Given the description of an element on the screen output the (x, y) to click on. 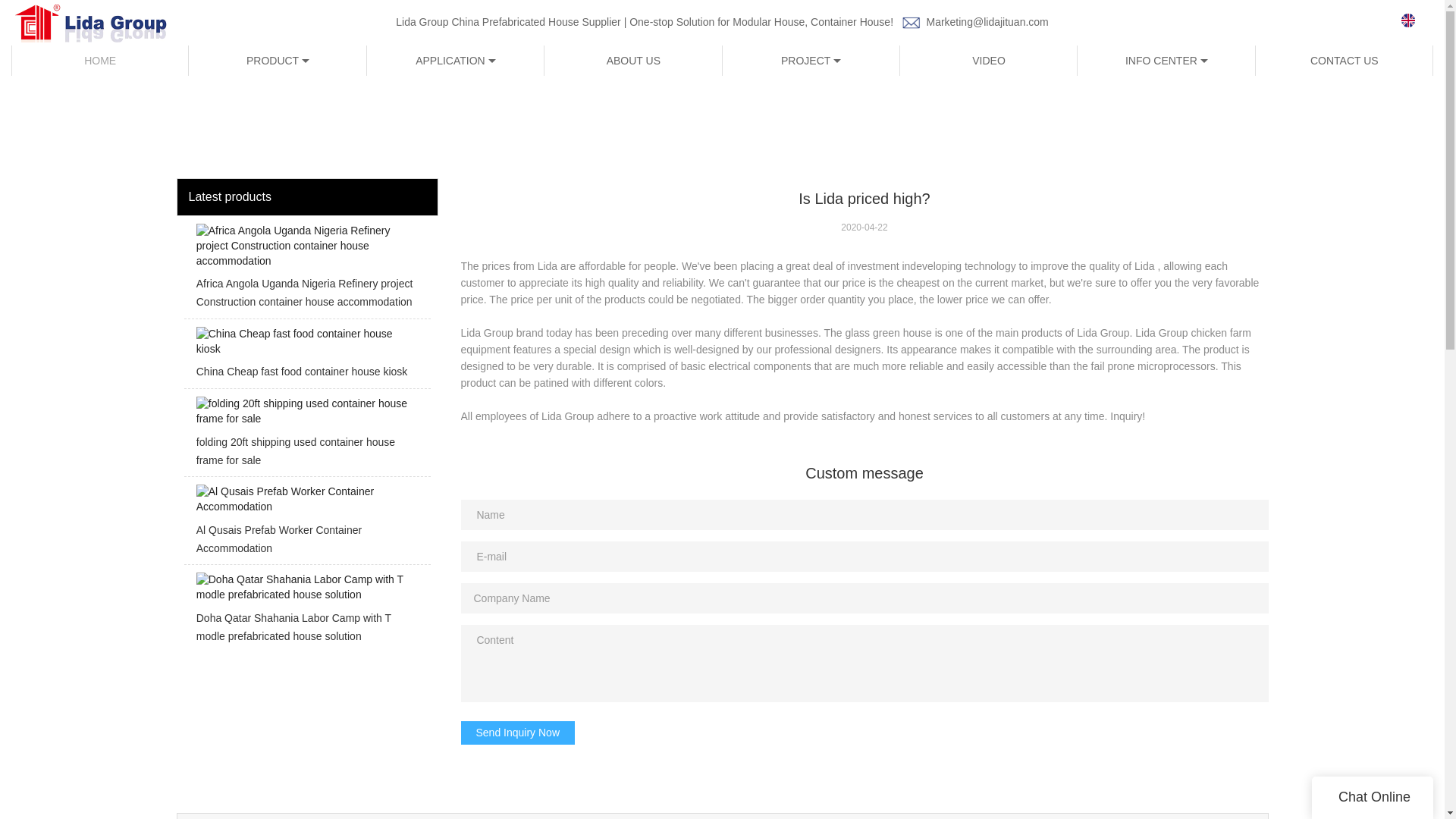
HOME (100, 60)
PRODUCT (277, 60)
APPLICATION (455, 60)
